Given the description of an element on the screen output the (x, y) to click on. 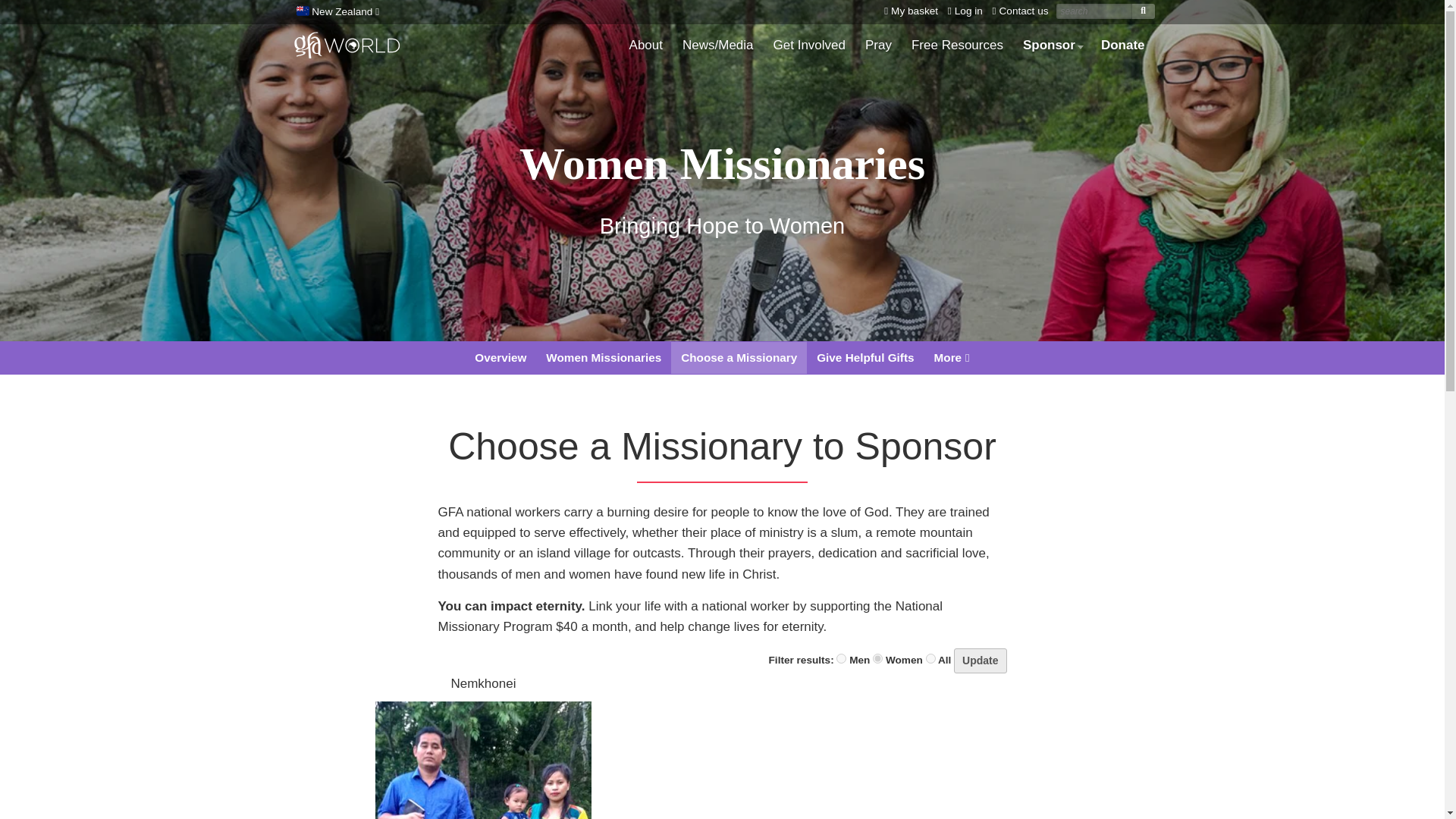
New Zealand (335, 12)
My basket (907, 10)
Give Helpful Gifts (864, 357)
Get Involved (809, 45)
Choose a Missionary (738, 357)
Sponsor (1051, 45)
Log in (962, 10)
Women Missionaries (603, 357)
About (646, 45)
Free Resources (957, 45)
Overview (499, 357)
Donate (1122, 45)
Contact us (1017, 10)
More (951, 357)
M (840, 658)
